Given the description of an element on the screen output the (x, y) to click on. 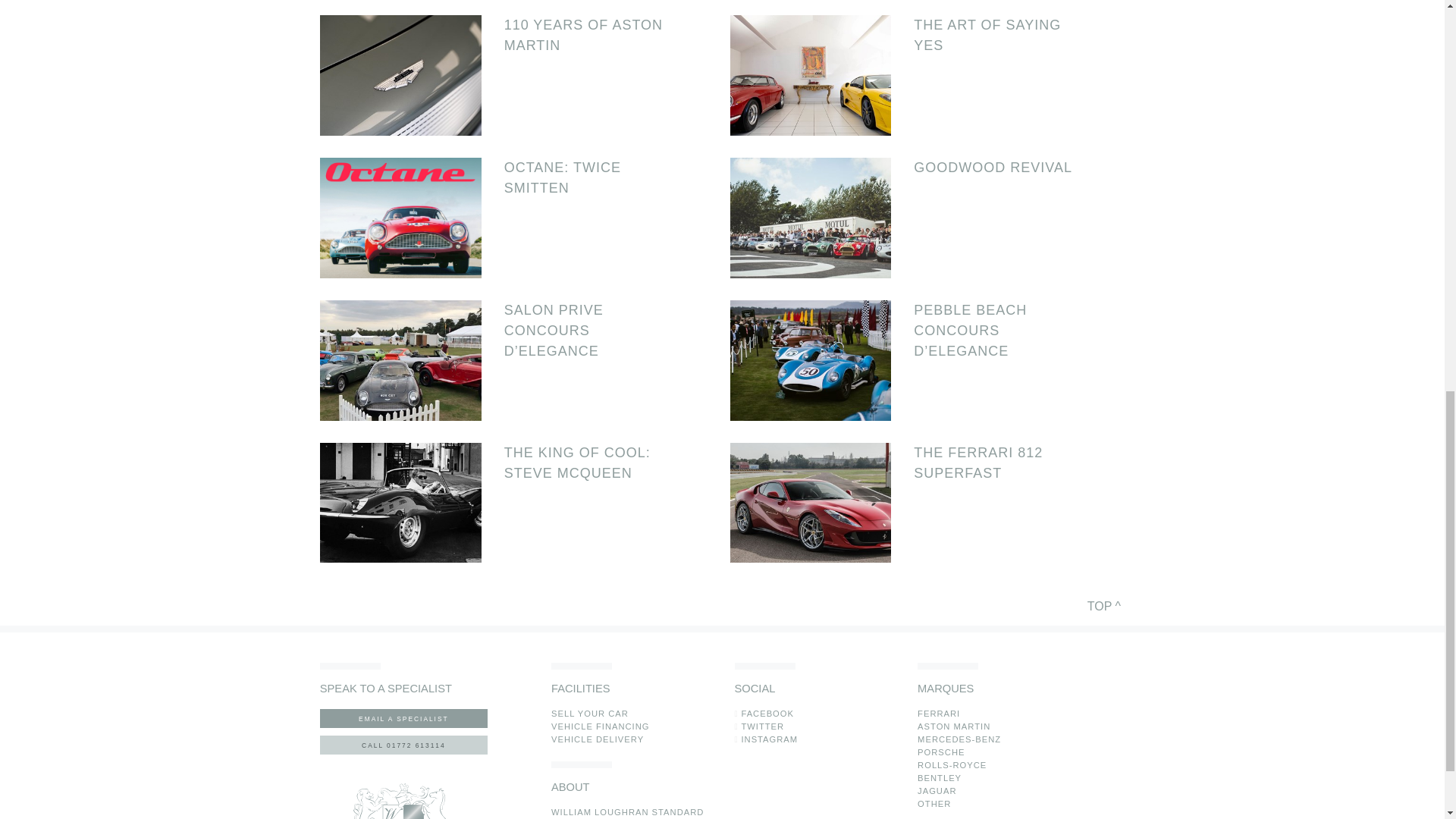
STOCK (627, 811)
Jaguar (936, 790)
Aston Martin (953, 726)
THE KING OF COOL: STEVE MCQUEEN (593, 463)
GOODWOOD REVIVAL (1004, 168)
THE ART OF SAYING YES (1004, 35)
SELL YOUR CAR (589, 713)
OCTANE: TWICE SMITTEN (593, 178)
Mercedes (959, 738)
Other Brands (933, 803)
Porsche (940, 751)
Ferrari (938, 713)
110 YEARS OF ASTON MARTIN (593, 35)
Rolls Royce (952, 764)
Bentley (938, 777)
